Given the description of an element on the screen output the (x, y) to click on. 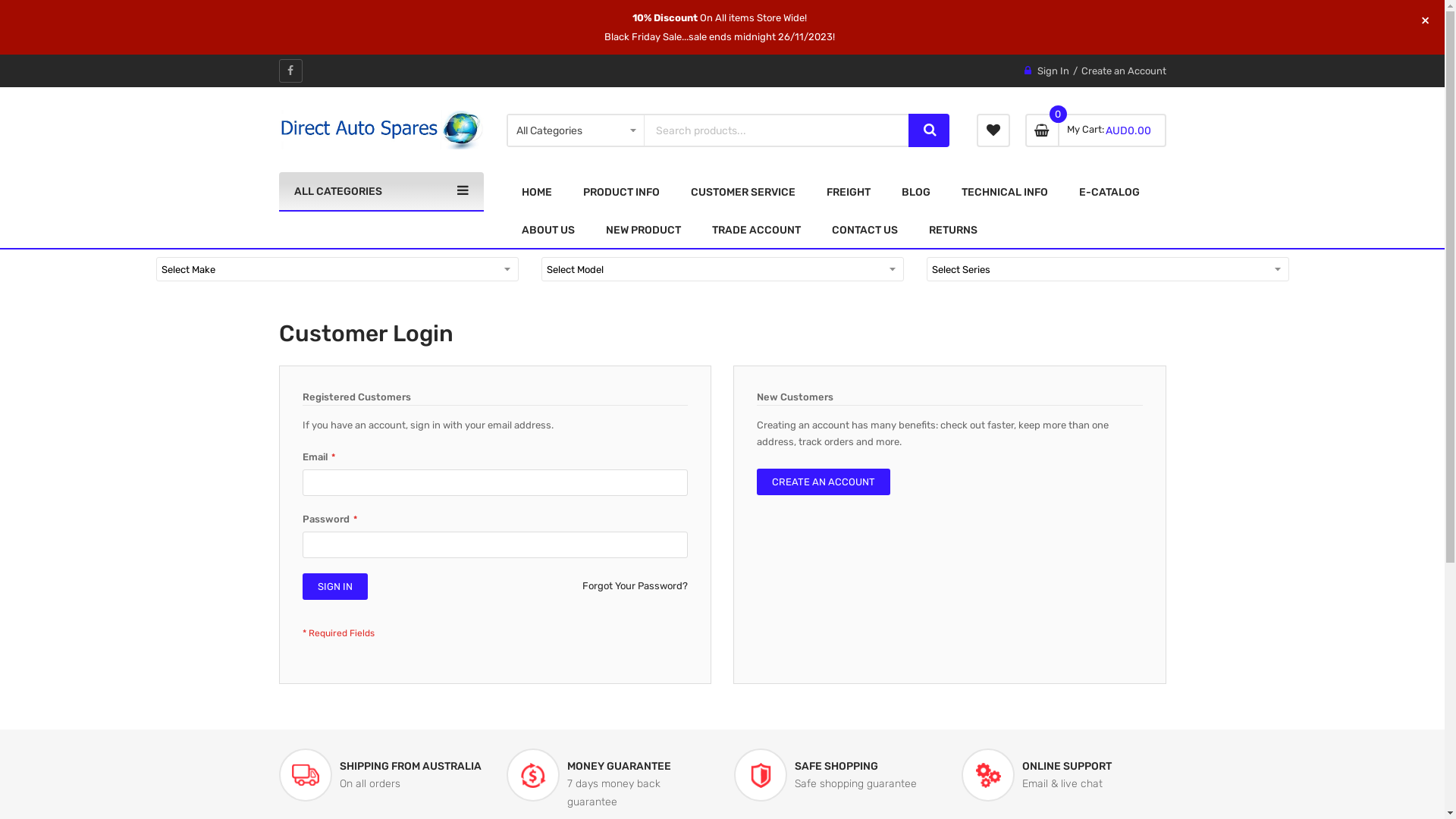
Create an Account Element type: text (1123, 70)
CONTACT US Element type: text (863, 229)
TRADE ACCOUNT Element type: text (755, 229)
E-CATALOG Element type: text (1108, 191)
Password Element type: hover (494, 544)
SIGN IN Element type: text (334, 586)
FREIGHT Element type: text (848, 191)
Forgot Your Password? Element type: text (634, 585)
TECHNICAL INFO Element type: text (1004, 191)
PRODUCT INFO Element type: text (620, 191)
Search Element type: hover (928, 130)
My Cart
0
AUD0.00 Element type: text (1095, 130)
Email Element type: hover (494, 482)
BLOG Element type: text (914, 191)
CREATE AN ACCOUNT Element type: text (823, 481)
My Wishlist Element type: hover (993, 130)
ABOUT US Element type: text (547, 229)
HOME Element type: text (536, 191)
Sign In Element type: text (1053, 70)
CUSTOMER SERVICE Element type: text (741, 191)
Facebook Element type: hover (290, 70)
Direct Auto Spares Element type: hover (381, 129)
NEW PRODUCT Element type: text (642, 229)
RETURNS Element type: text (952, 229)
